Given the description of an element on the screen output the (x, y) to click on. 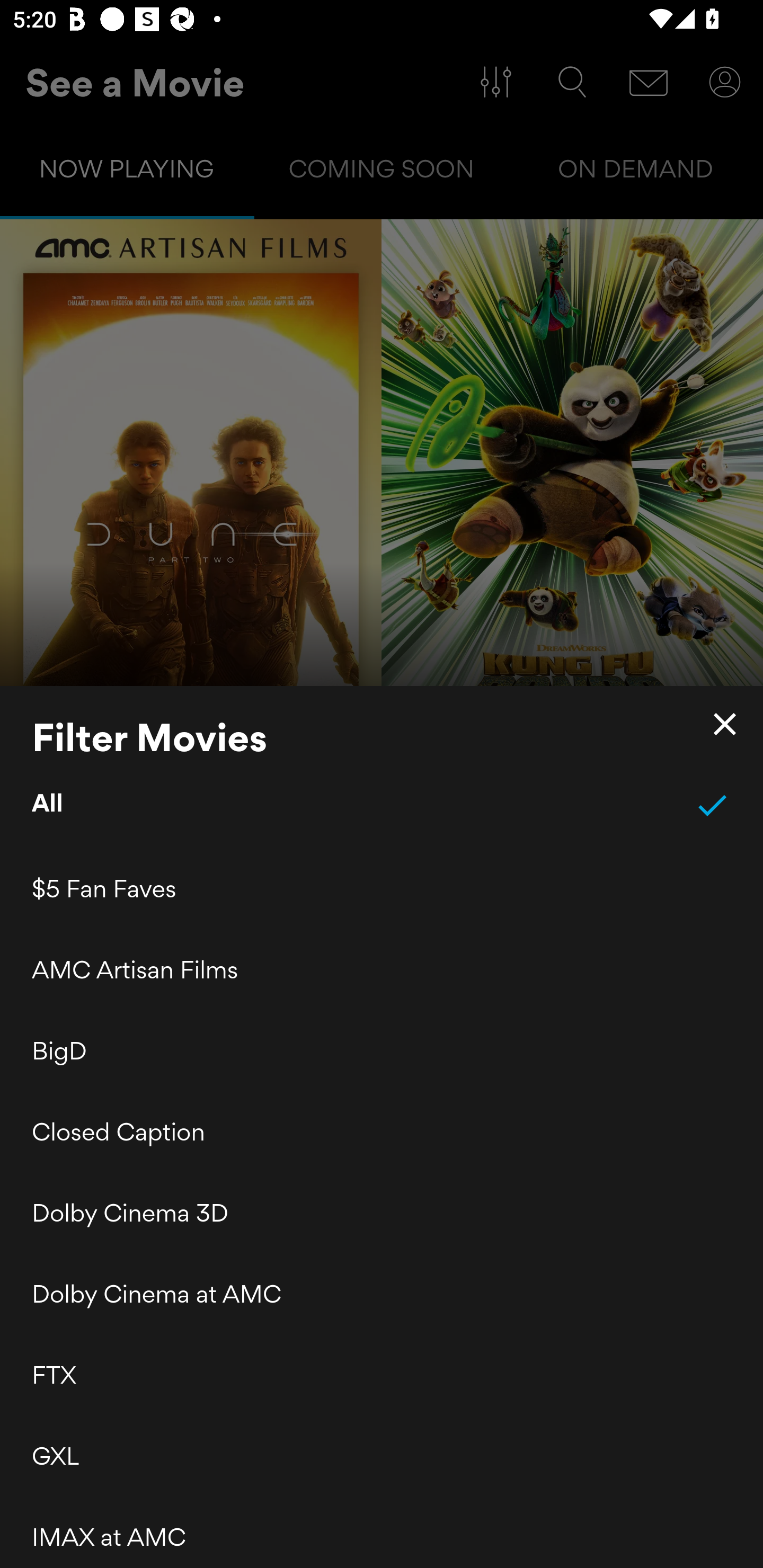
Close (724, 724)
All (381, 805)
$5 Fan Faves (381, 888)
AMC Artisan Films (381, 969)
BigD (381, 1050)
Closed Caption (381, 1131)
Dolby Cinema 3D (381, 1212)
Dolby Cinema at AMC (381, 1293)
FTX (381, 1374)
GXL (381, 1455)
IMAX at AMC (381, 1531)
